Given the description of an element on the screen output the (x, y) to click on. 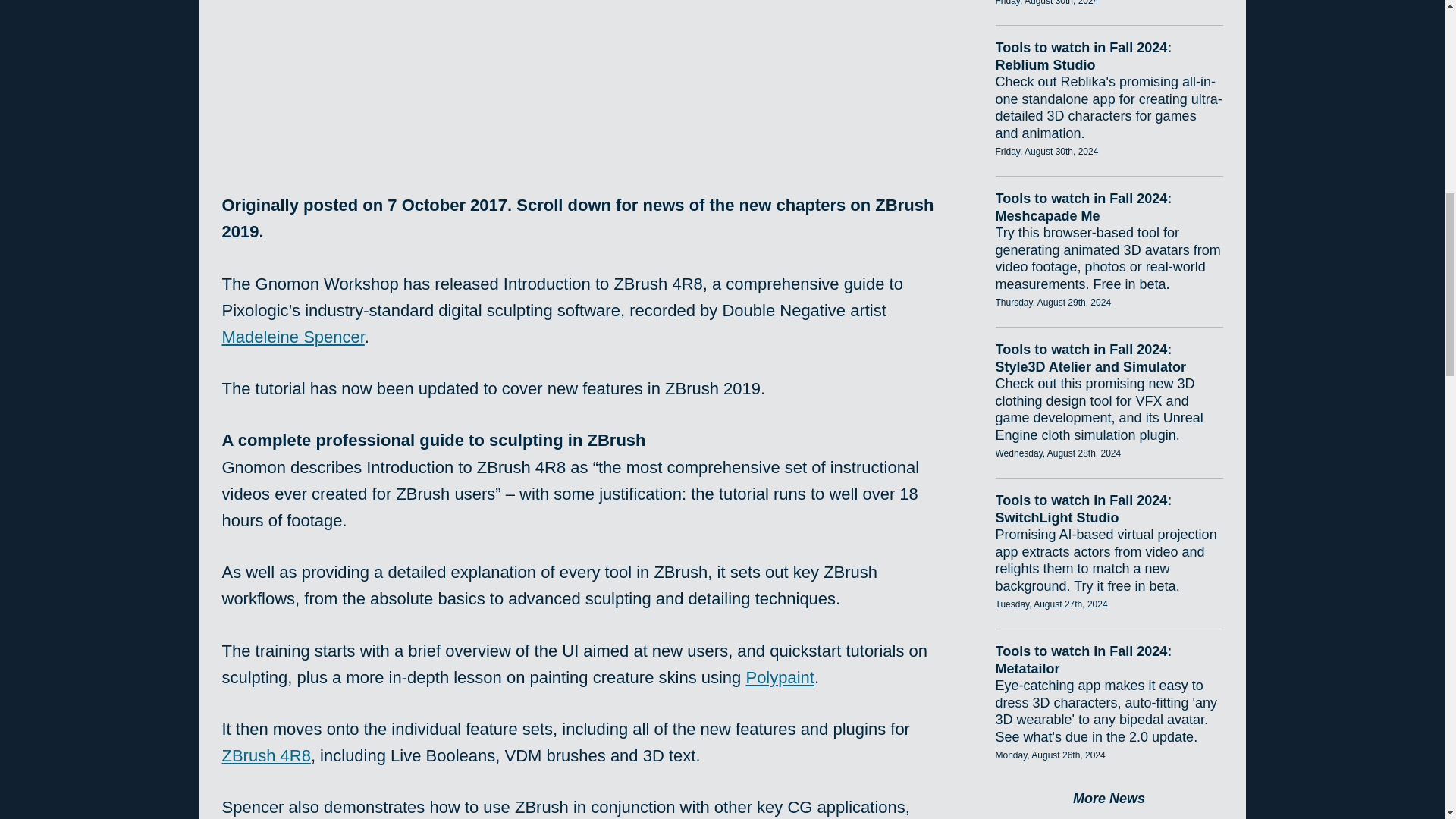
ZBrush 4R8 (265, 755)
Polypaint (779, 677)
Madeleine Spencer (292, 336)
Introduction to ZBrush 4R8 (585, 70)
